Given the description of an element on the screen output the (x, y) to click on. 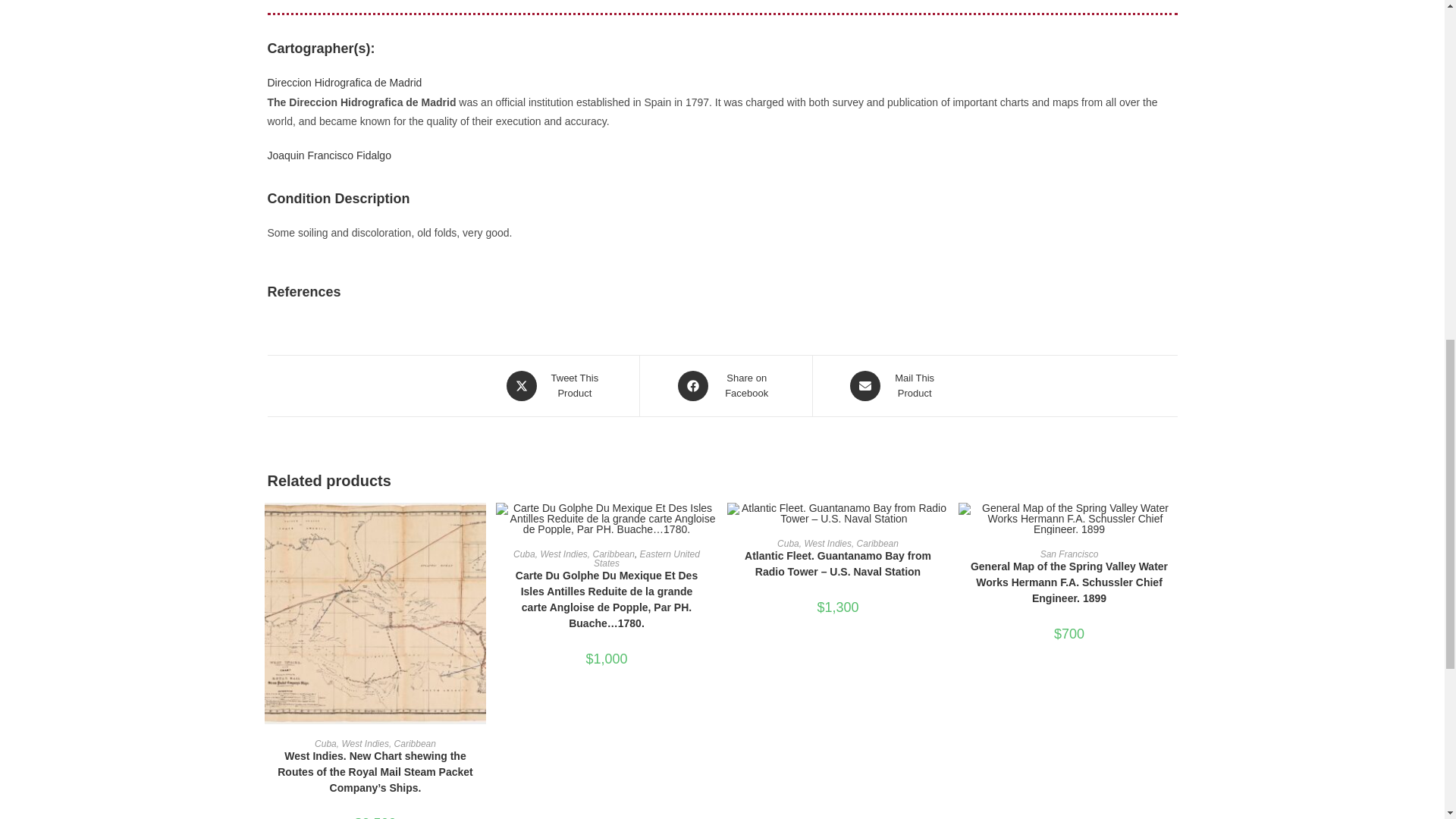
Cuba, West Indies, Caribbean (554, 386)
Cuba, West Indies, Caribbean (725, 386)
Direccion Hidrografica de Madrid (573, 553)
Joaquin Francisco Fidalgo (374, 743)
